Given the description of an element on the screen output the (x, y) to click on. 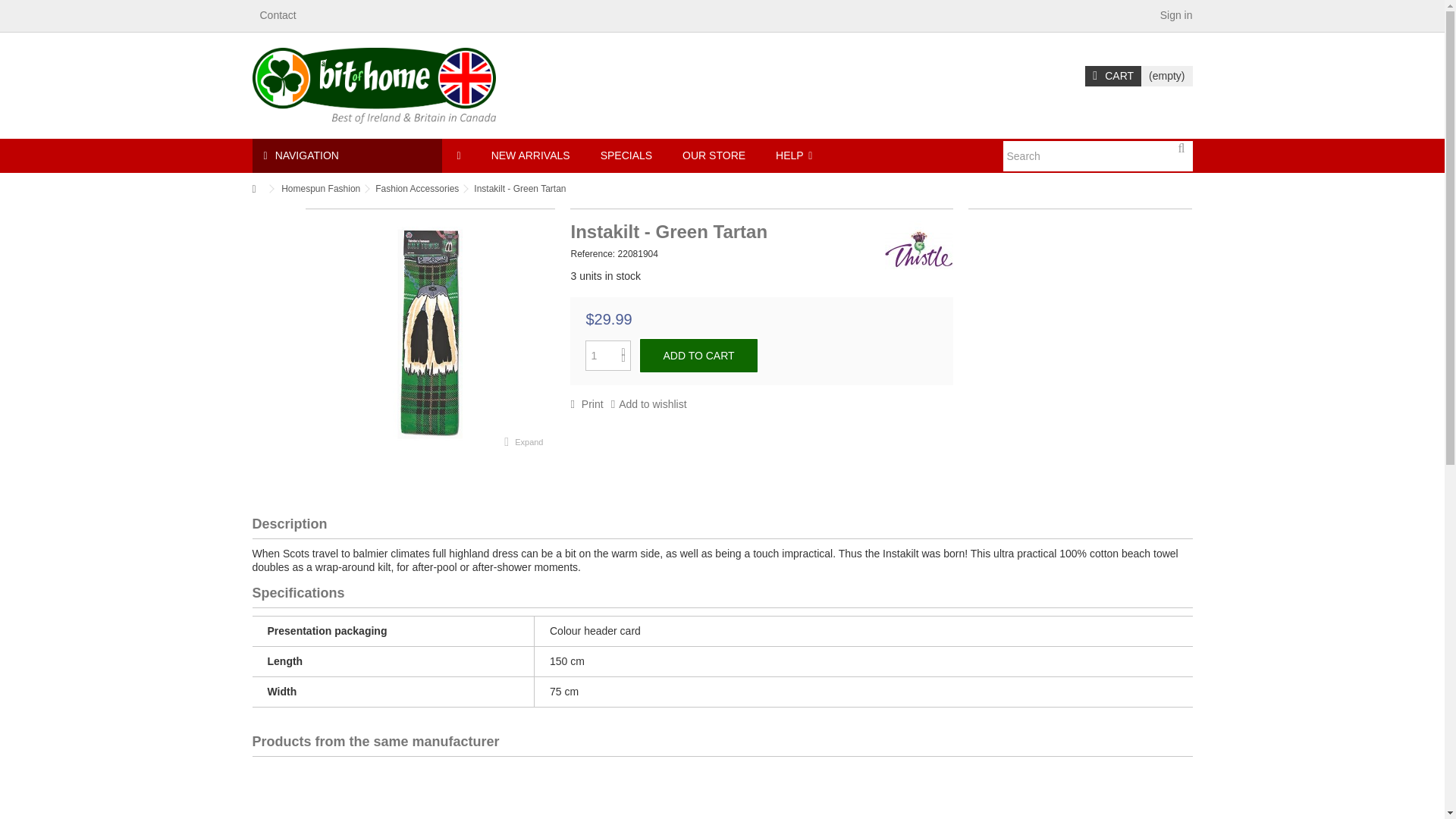
Sign in (1174, 15)
1 (607, 355)
Contact (277, 15)
Login to your customer account (1174, 15)
View my shopping cart (1138, 76)
Contact (277, 15)
